Given the description of an element on the screen output the (x, y) to click on. 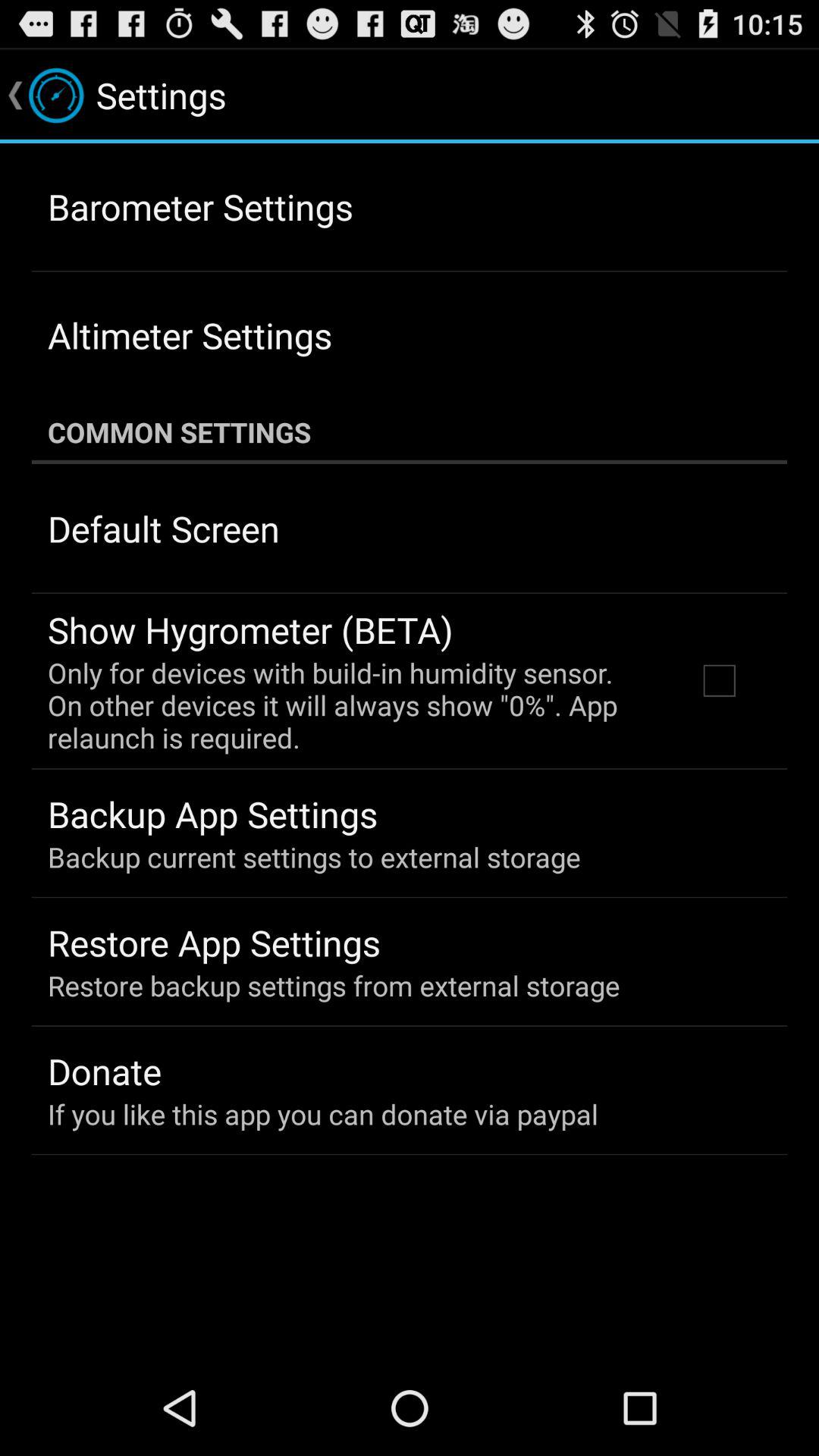
select the if you like app (322, 1113)
